Given the description of an element on the screen output the (x, y) to click on. 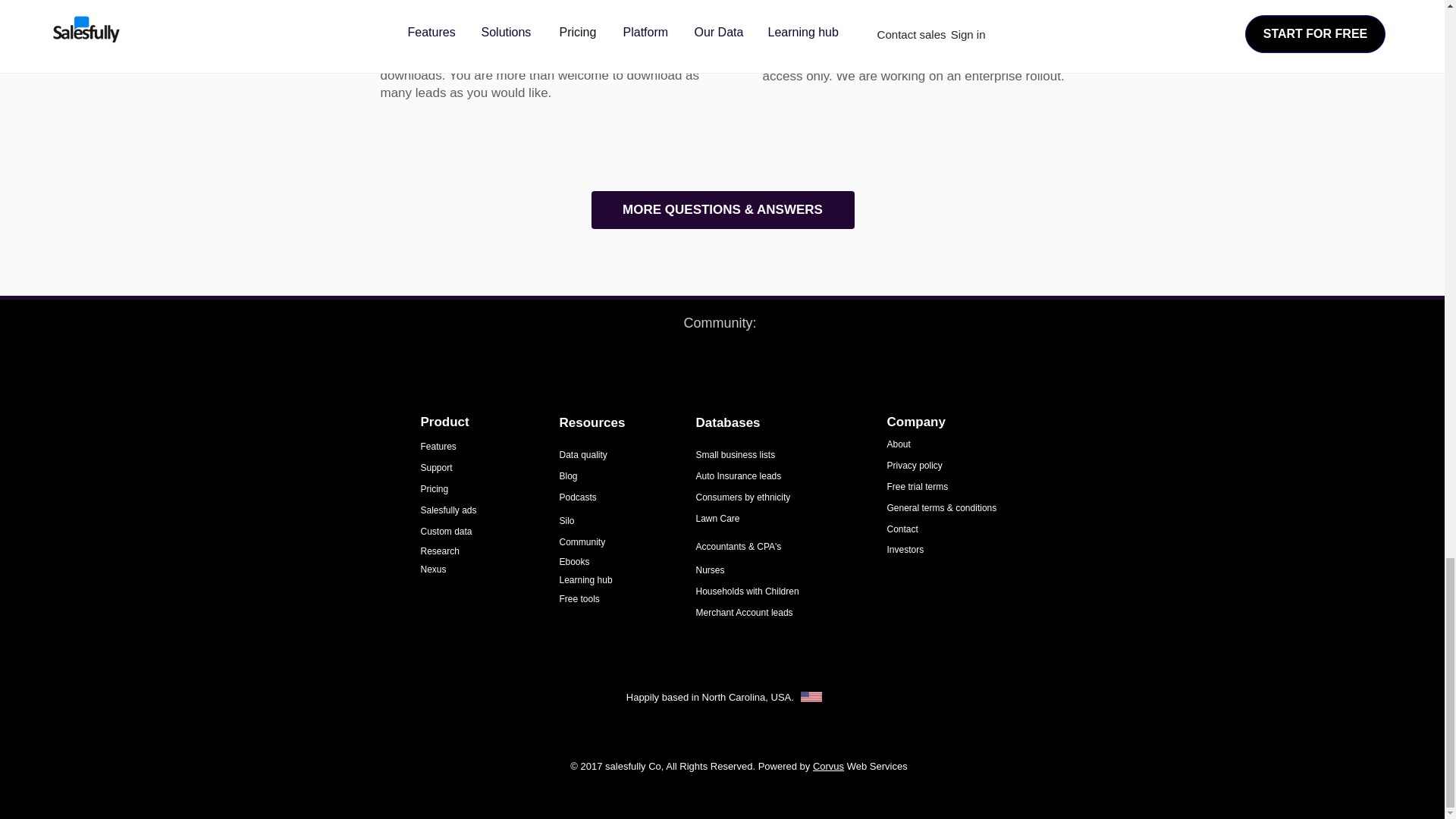
Small business lists (735, 454)
Consumers by ethnicity (742, 497)
Lawn Care (717, 518)
Pricing (434, 489)
Research  (440, 551)
Auto Insurance leads (738, 475)
Features (437, 446)
Nexus (432, 569)
Salesfully ads (448, 510)
Support (435, 467)
